Given the description of an element on the screen output the (x, y) to click on. 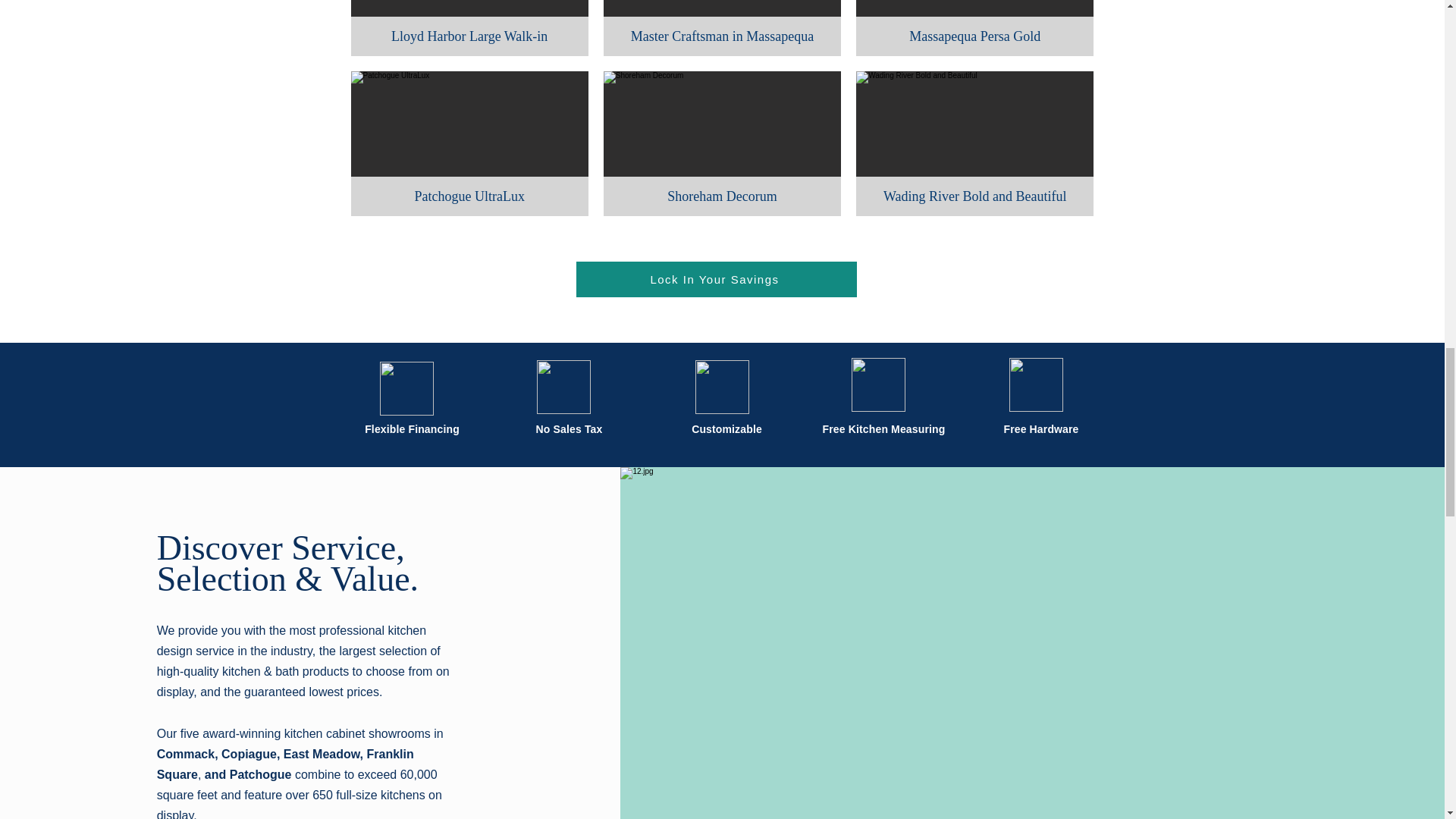
21.png (1035, 384)
20.png (877, 384)
17.png (405, 388)
Lock In Your Savings (716, 279)
18.png (564, 387)
19.png (721, 387)
